Given the description of an element on the screen output the (x, y) to click on. 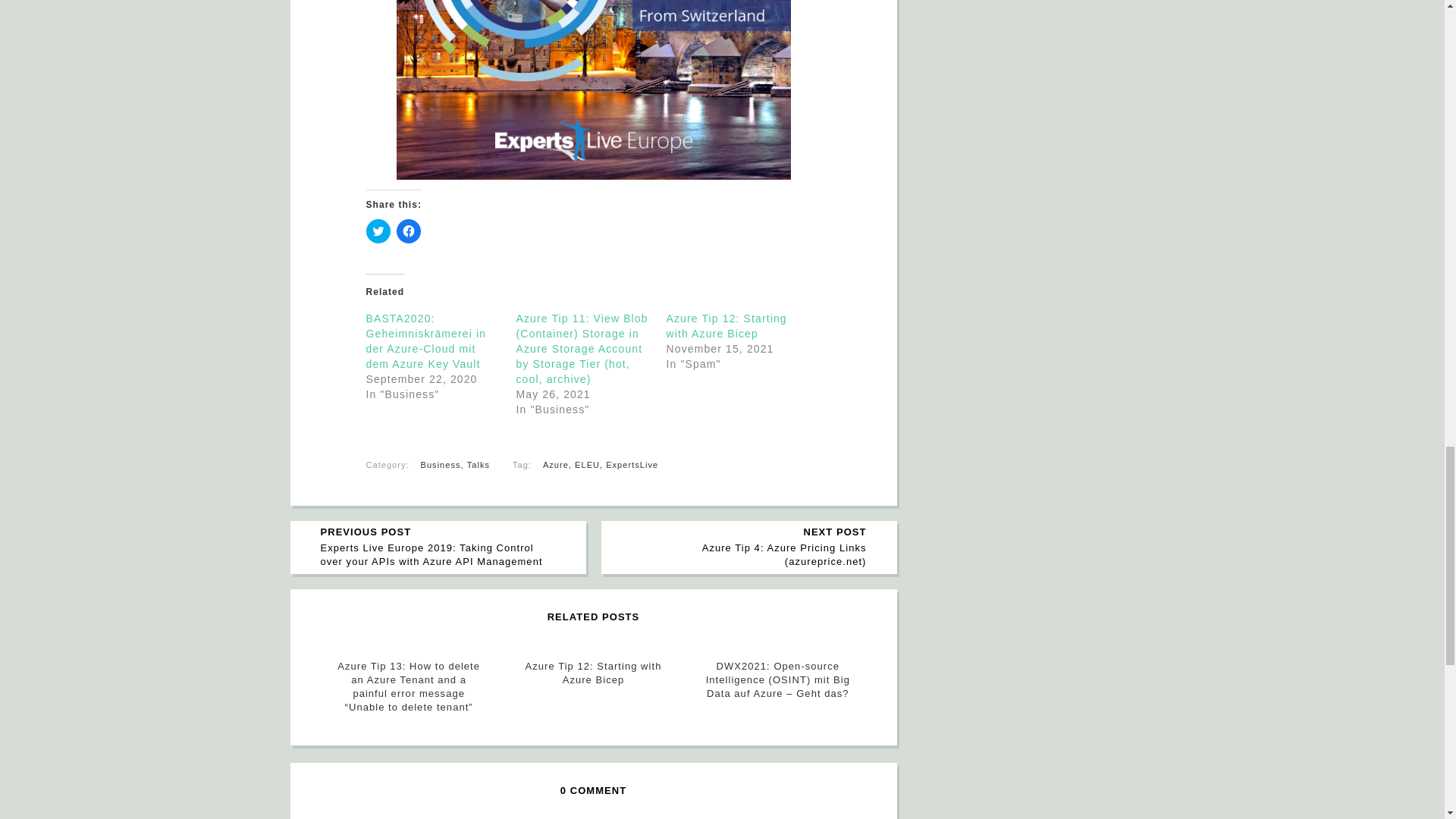
Click to share on Twitter (377, 231)
Azure (556, 464)
Azure Tip 12: Starting with Azure Bicep (725, 325)
Azure Tip 12: Starting with Azure Bicep (725, 325)
Business (440, 464)
ExpertsLive (631, 464)
Talks (478, 464)
Azure Tip 12: Starting with Azure Bicep (593, 672)
Click to share on Facebook (408, 231)
ELEU (587, 464)
